Given the description of an element on the screen output the (x, y) to click on. 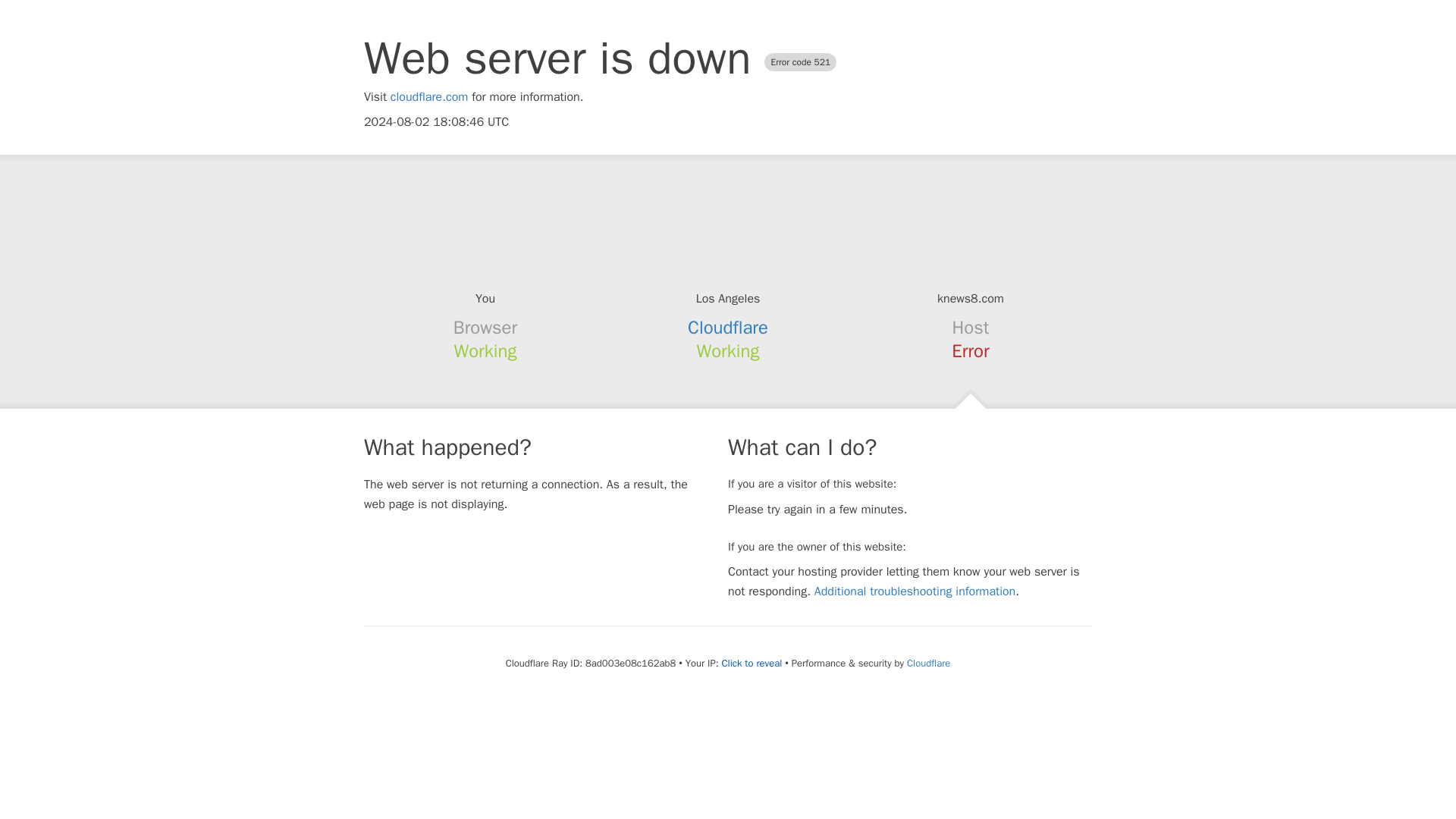
cloudflare.com (429, 96)
Cloudflare (928, 662)
Additional troubleshooting information (913, 590)
Click to reveal (750, 663)
Cloudflare (727, 327)
